Given the description of an element on the screen output the (x, y) to click on. 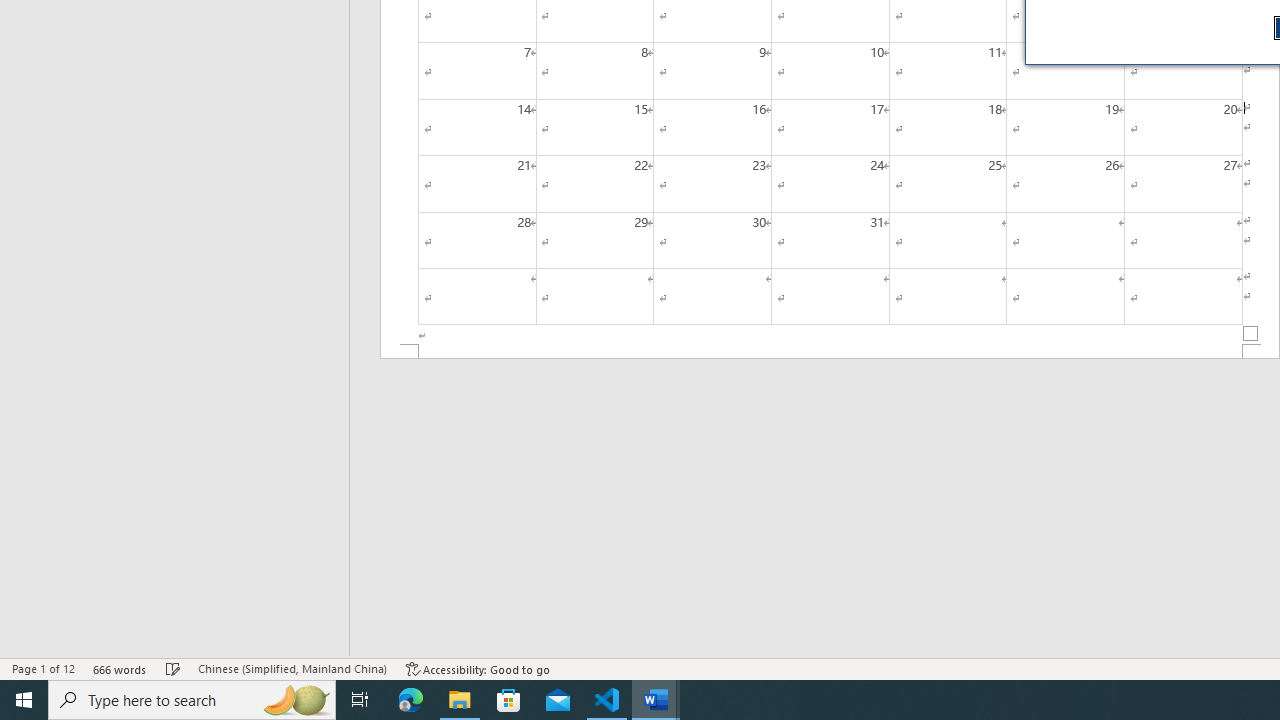
Word - 2 running windows (656, 699)
Microsoft Store (509, 699)
